Given the description of an element on the screen output the (x, y) to click on. 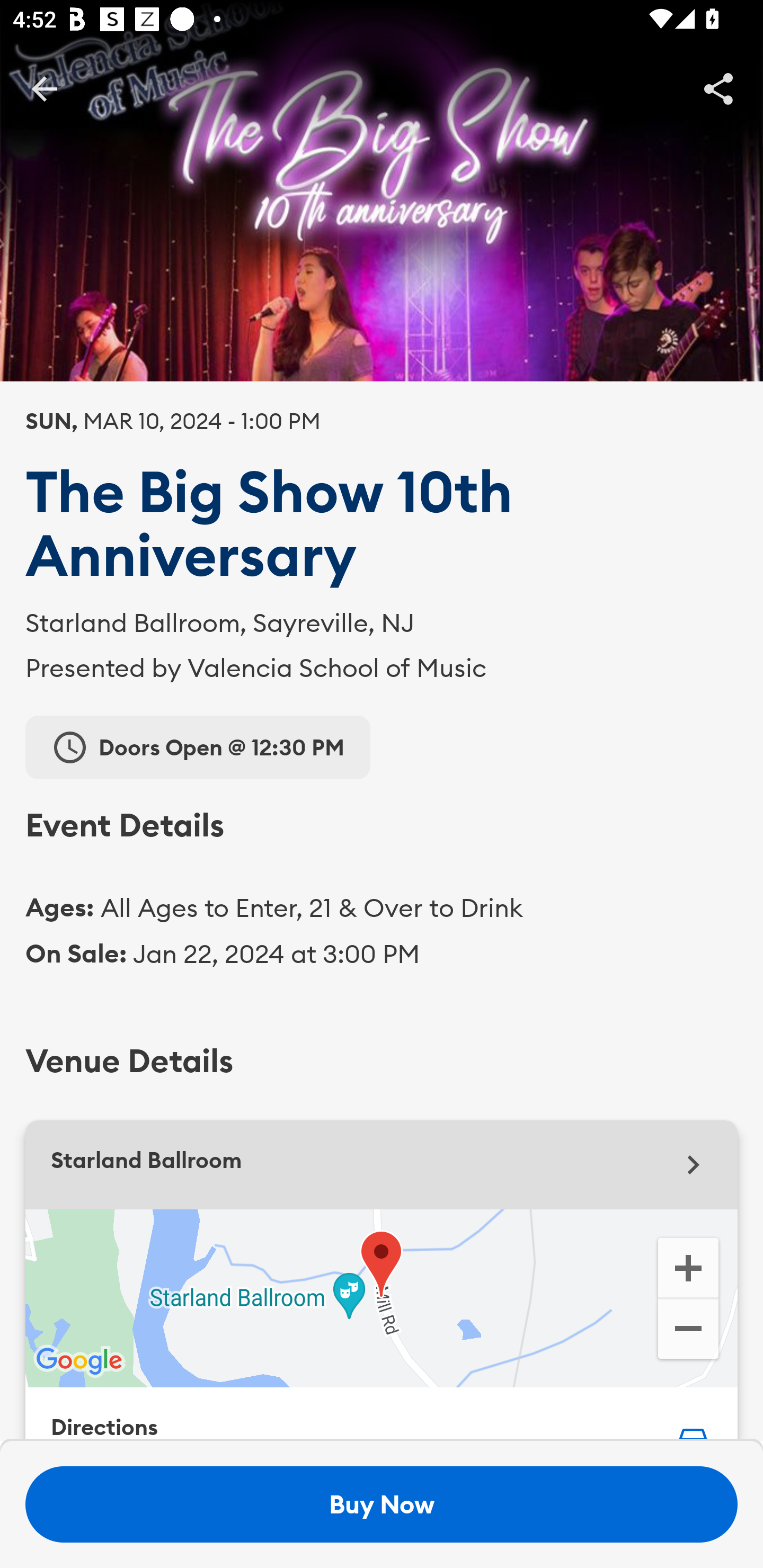
BackButton (44, 88)
Share (718, 88)
Starland Ballroom (381, 1164)
Google Map Starland Ballroom.  Zoom in Zoom out (381, 1297)
Zoom in (687, 1266)
Zoom out (687, 1331)
Directions (381, 1413)
Buy Now (381, 1504)
